Given the description of an element on the screen output the (x, y) to click on. 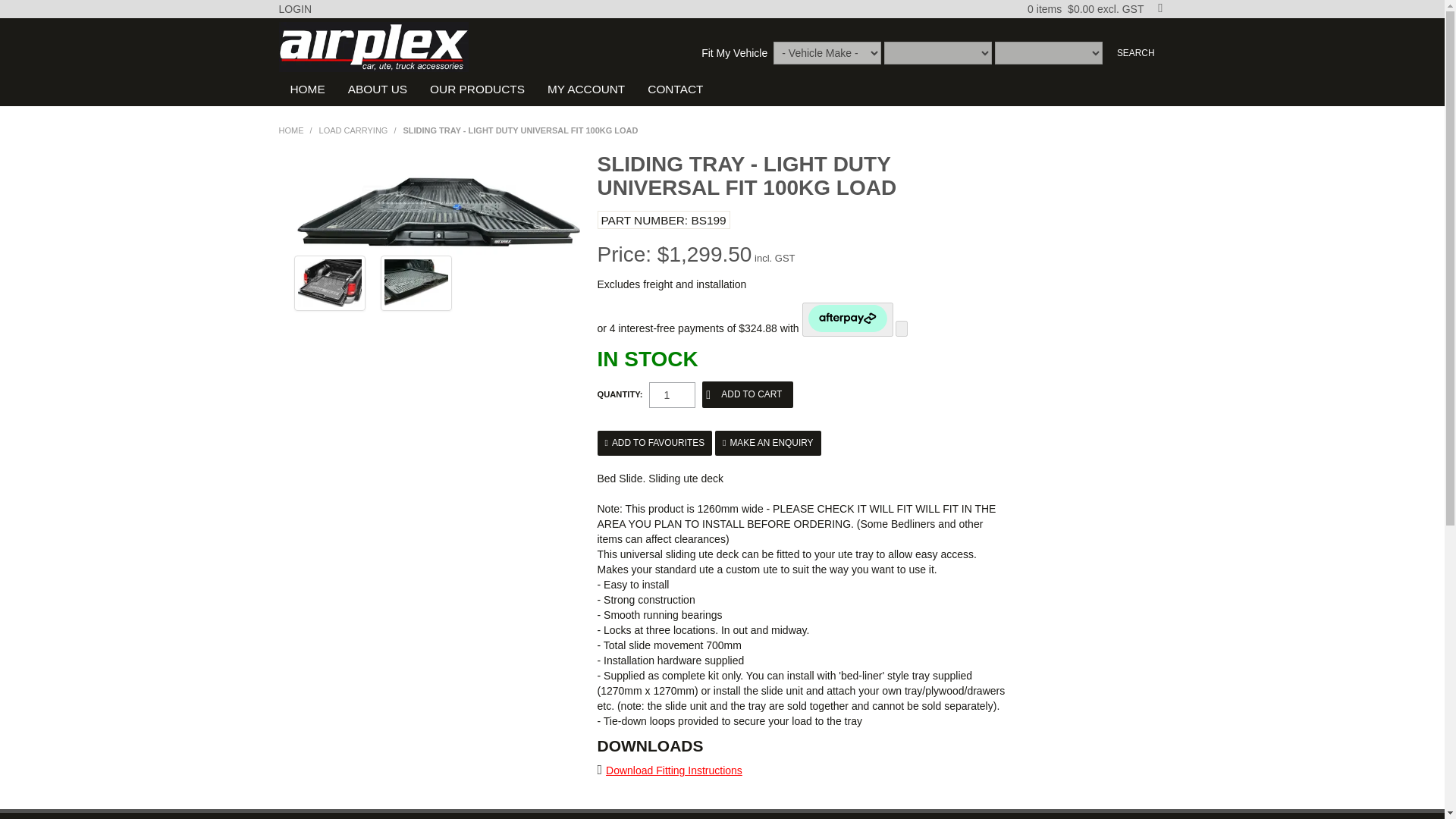
Add to Cart (747, 394)
LOGIN (296, 9)
CONTACT (675, 89)
MAKE AN ENQUIRY (767, 442)
HOME (307, 89)
Search (1135, 52)
Search (1135, 52)
Add to Cart (747, 394)
MY ACCOUNT (585, 89)
OUR PRODUCTS (477, 89)
Add to Favourites (654, 442)
1 (672, 394)
LOAD CARRYING (353, 130)
HOME (291, 130)
ABOUT US (377, 89)
